Given the description of an element on the screen output the (x, y) to click on. 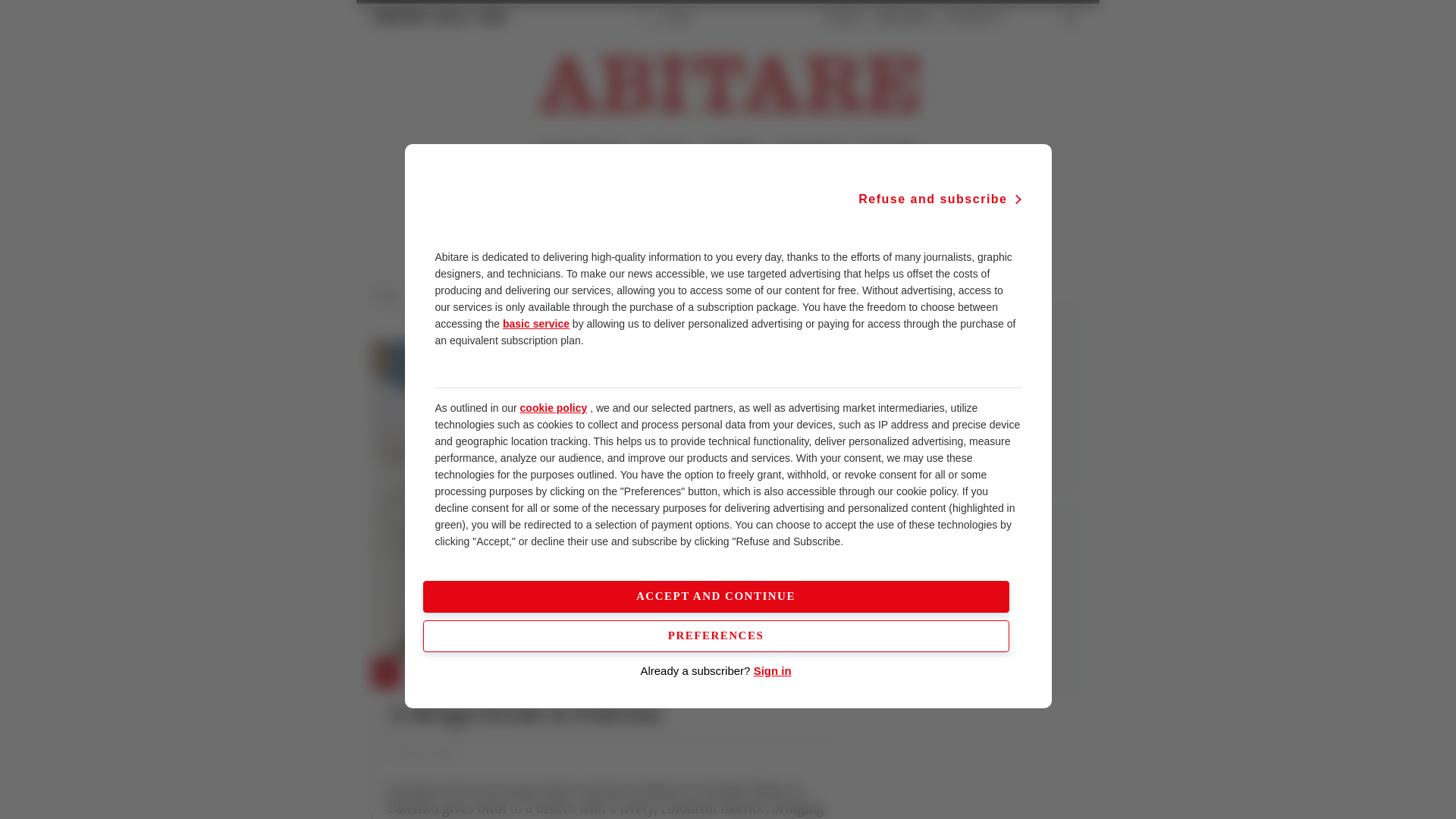
RESEARCH (812, 150)
Il Corriere della Sera (439, 17)
HABITAT (735, 150)
ARCHITECTURE (578, 150)
REGISTER (903, 18)
Francesca Oddo (422, 753)
CONTACT (972, 18)
GALLERY (890, 150)
Architecture (442, 294)
Projects (498, 294)
Abitare (390, 294)
ITA (643, 18)
LOGIN (842, 18)
Search (1035, 17)
PROJECTS (439, 674)
